Given the description of an element on the screen output the (x, y) to click on. 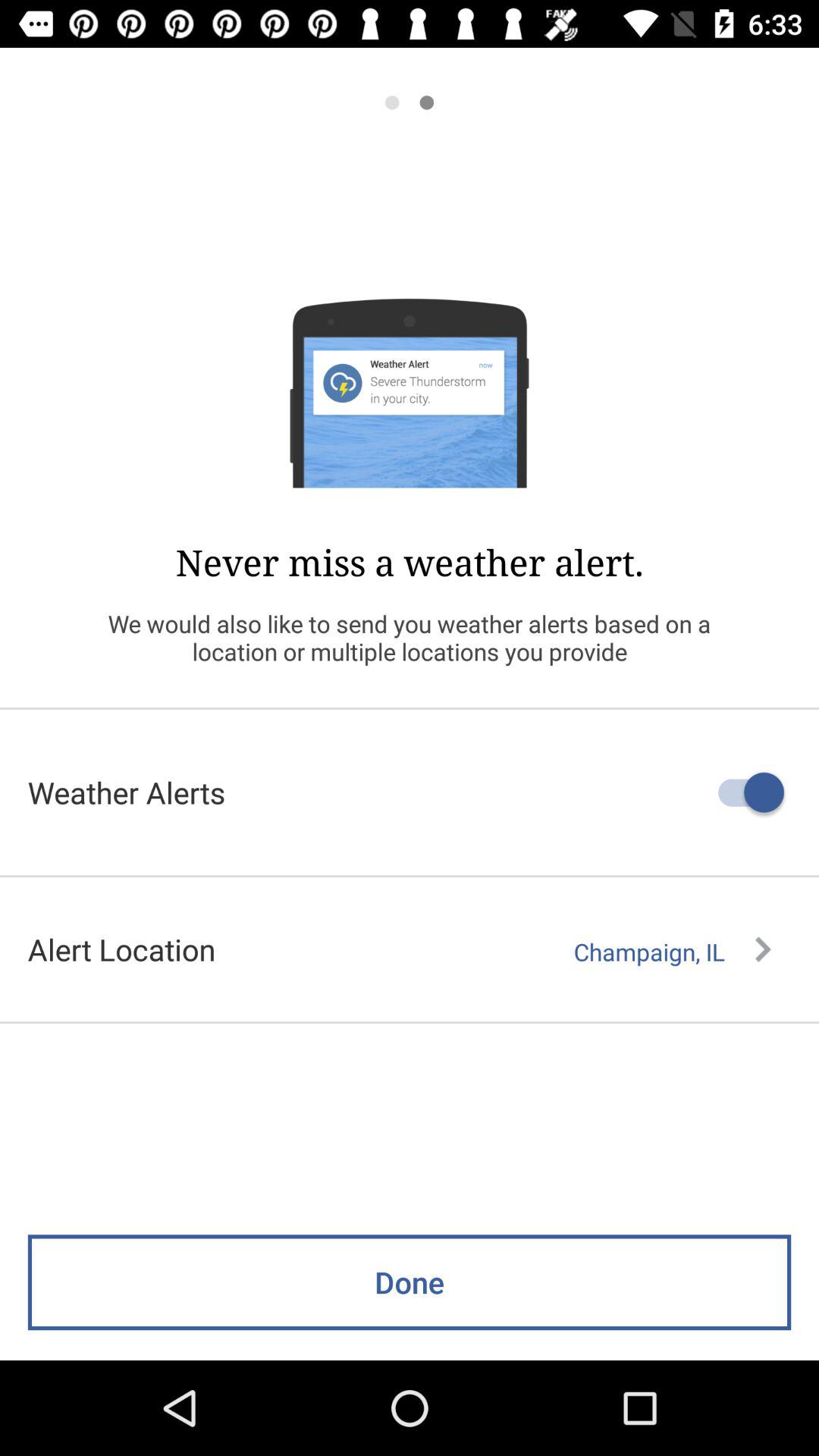
scroll until the champaign, il (672, 951)
